Given the description of an element on the screen output the (x, y) to click on. 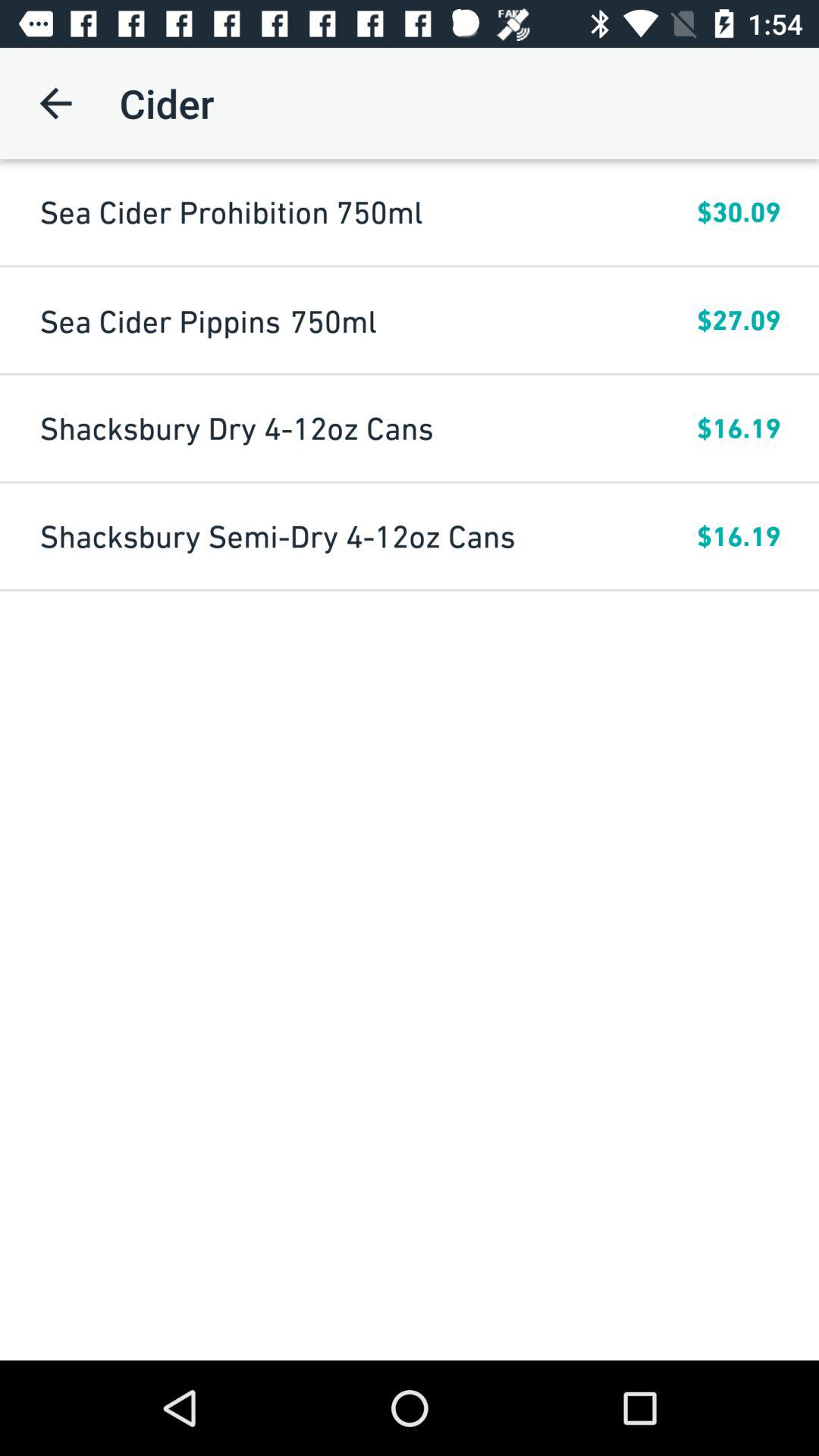
tap the app to the left of cider item (55, 103)
